Given the description of an element on the screen output the (x, y) to click on. 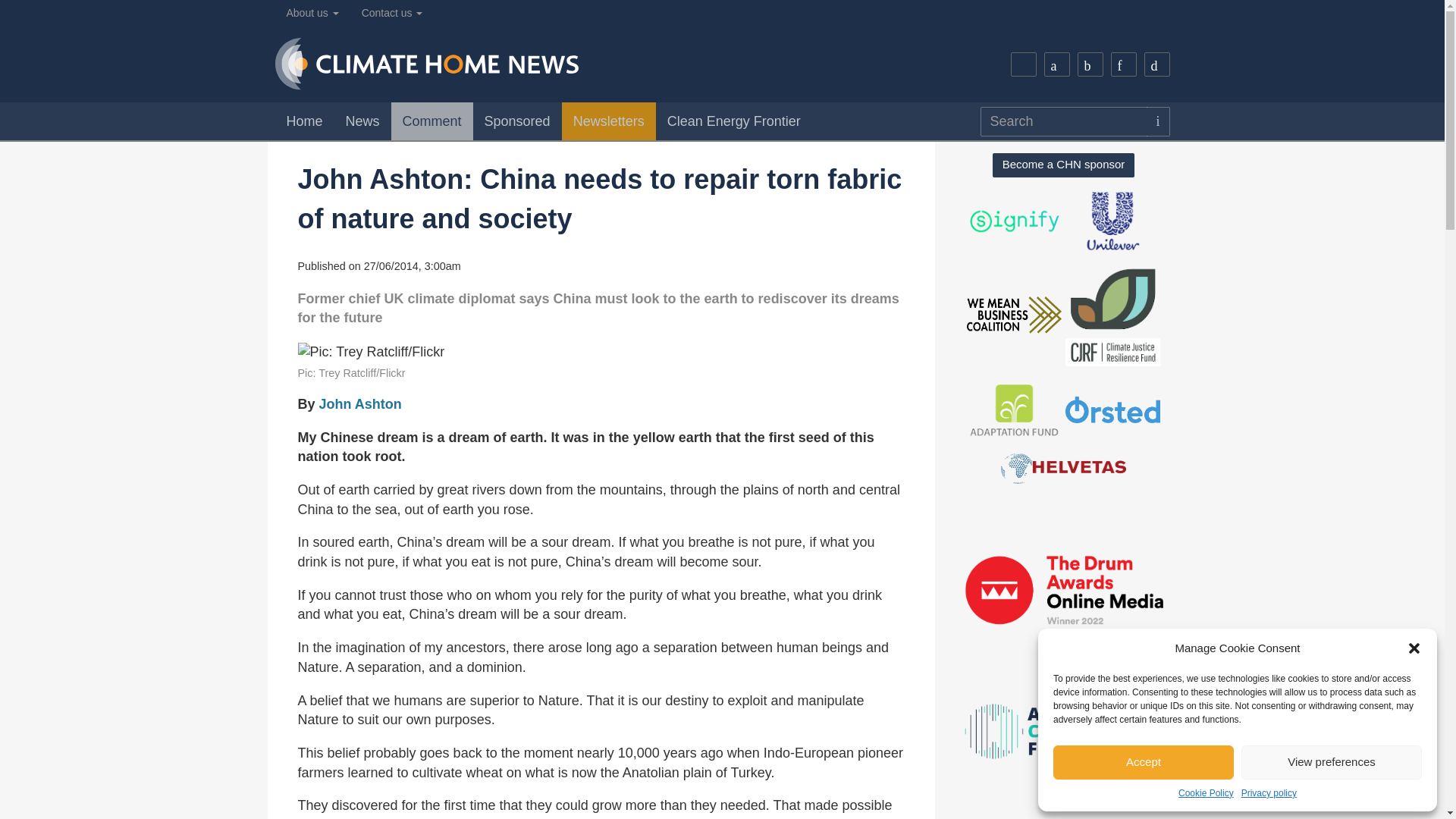
Accept (1142, 762)
Contact us (391, 13)
Home (304, 121)
View preferences (1331, 762)
Sponsored (517, 121)
Cookie Policy (1205, 793)
News (362, 121)
Comment (432, 121)
Privacy policy (1269, 793)
About us (312, 13)
